Given the description of an element on the screen output the (x, y) to click on. 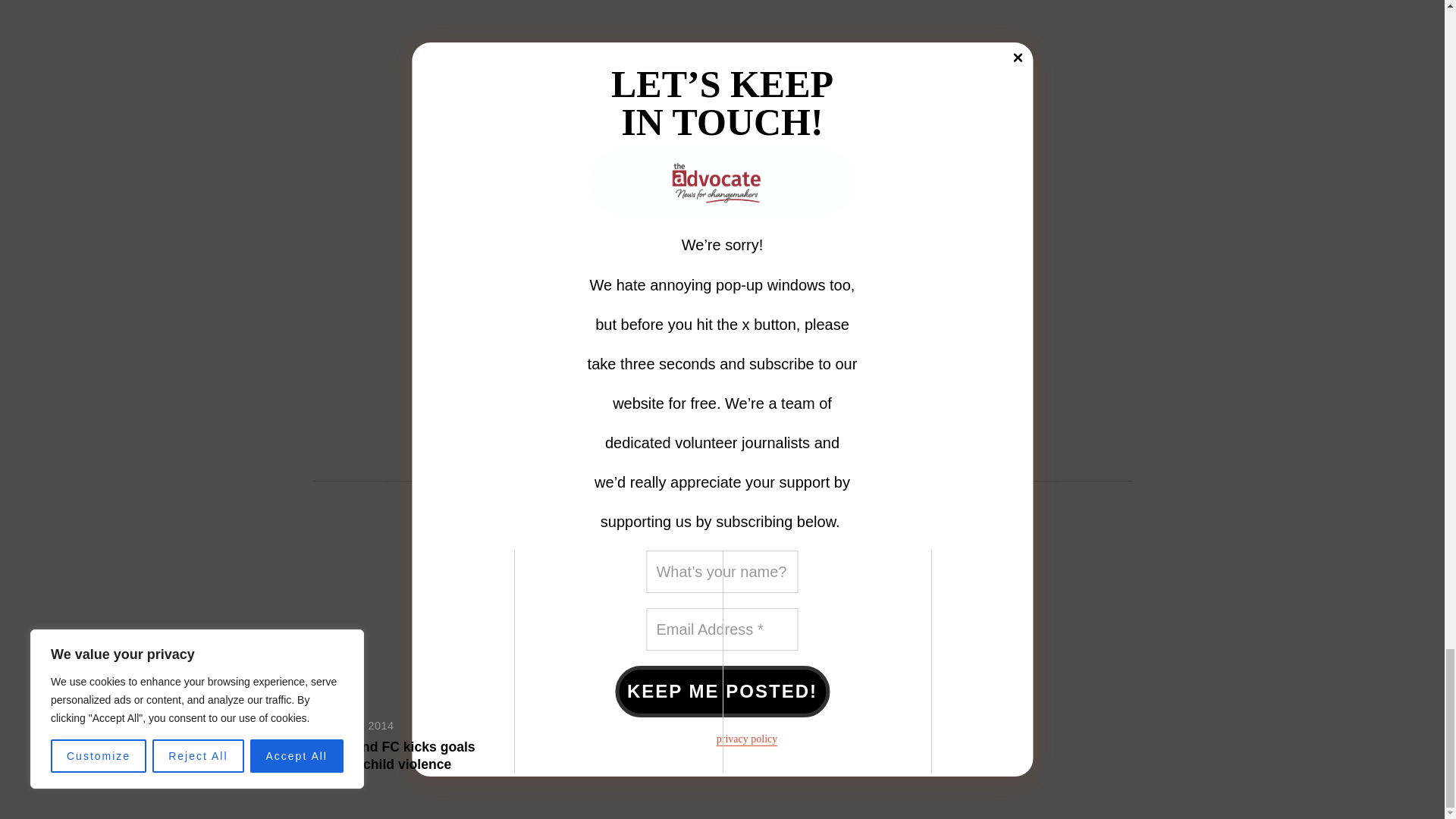
Post Comment (549, 396)
yes (476, 360)
Post Comment (549, 396)
